Given the description of an element on the screen output the (x, y) to click on. 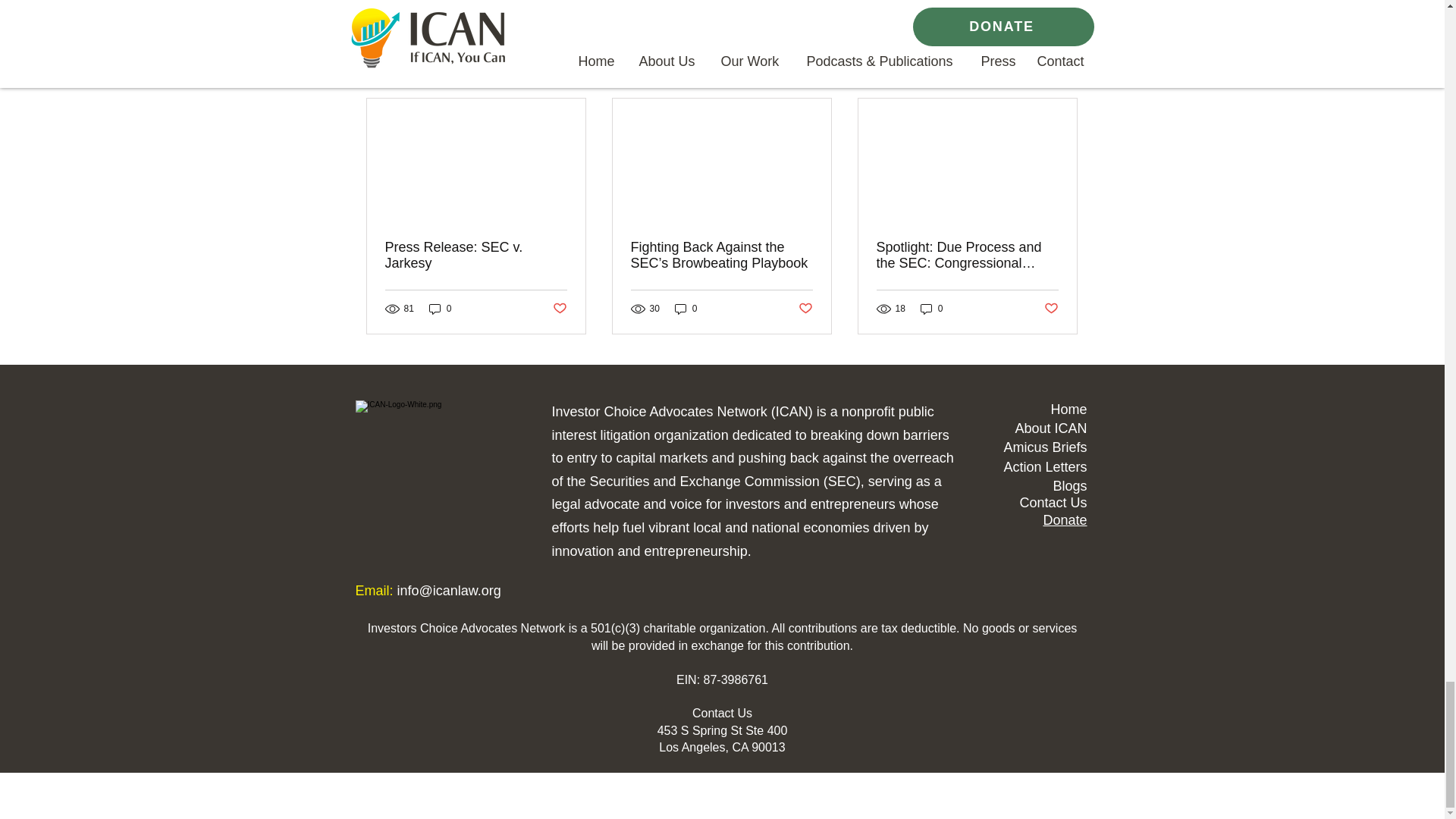
See All (1061, 71)
0 (440, 309)
Post not marked as liked (558, 308)
Press Release: SEC v. Jarkesy (476, 255)
